Given the description of an element on the screen output the (x, y) to click on. 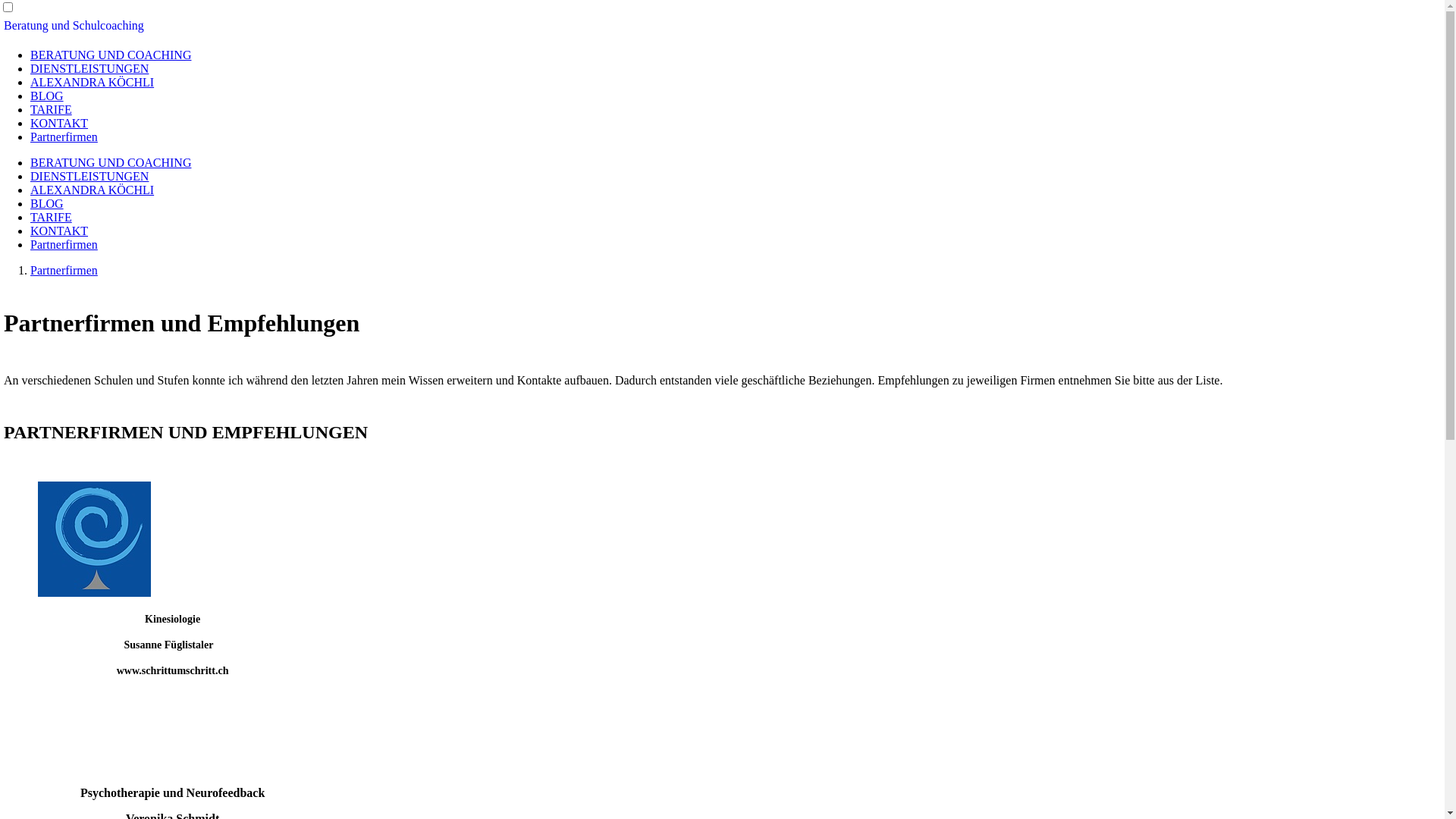
Partnerfirmen Element type: text (63, 269)
DIENSTLEISTUNGEN Element type: text (89, 175)
BLOG Element type: text (46, 203)
BLOG Element type: text (46, 95)
Beratung und Schulcoaching Element type: text (73, 24)
BERATUNG UND COACHING Element type: text (110, 54)
KONTAKT Element type: text (58, 230)
TARIFE Element type: text (51, 109)
Partnerfirmen Element type: text (63, 244)
DIENSTLEISTUNGEN Element type: text (89, 68)
TARIFE Element type: text (51, 216)
Partnerfirmen Element type: text (63, 136)
KONTAKT Element type: text (58, 122)
BERATUNG UND COACHING Element type: text (110, 162)
